Given the description of an element on the screen output the (x, y) to click on. 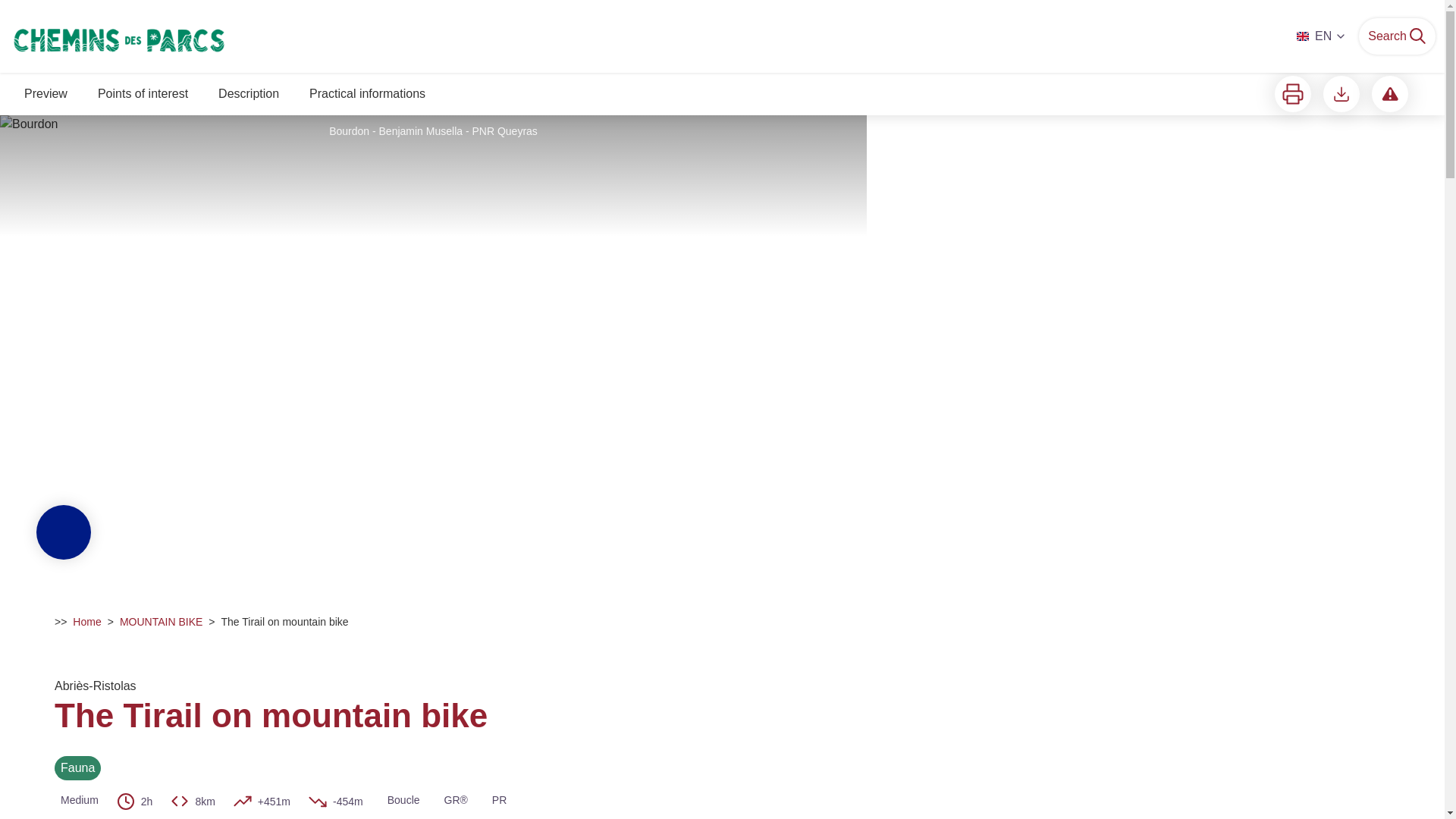
Description (248, 95)
Search (1396, 36)
Practical informations (366, 95)
MOUNTAIN BIKE (160, 621)
Home (86, 621)
Preview (45, 95)
EN (1321, 36)
Chemins des Parcs (236, 36)
Points of interest (142, 95)
